Given the description of an element on the screen output the (x, y) to click on. 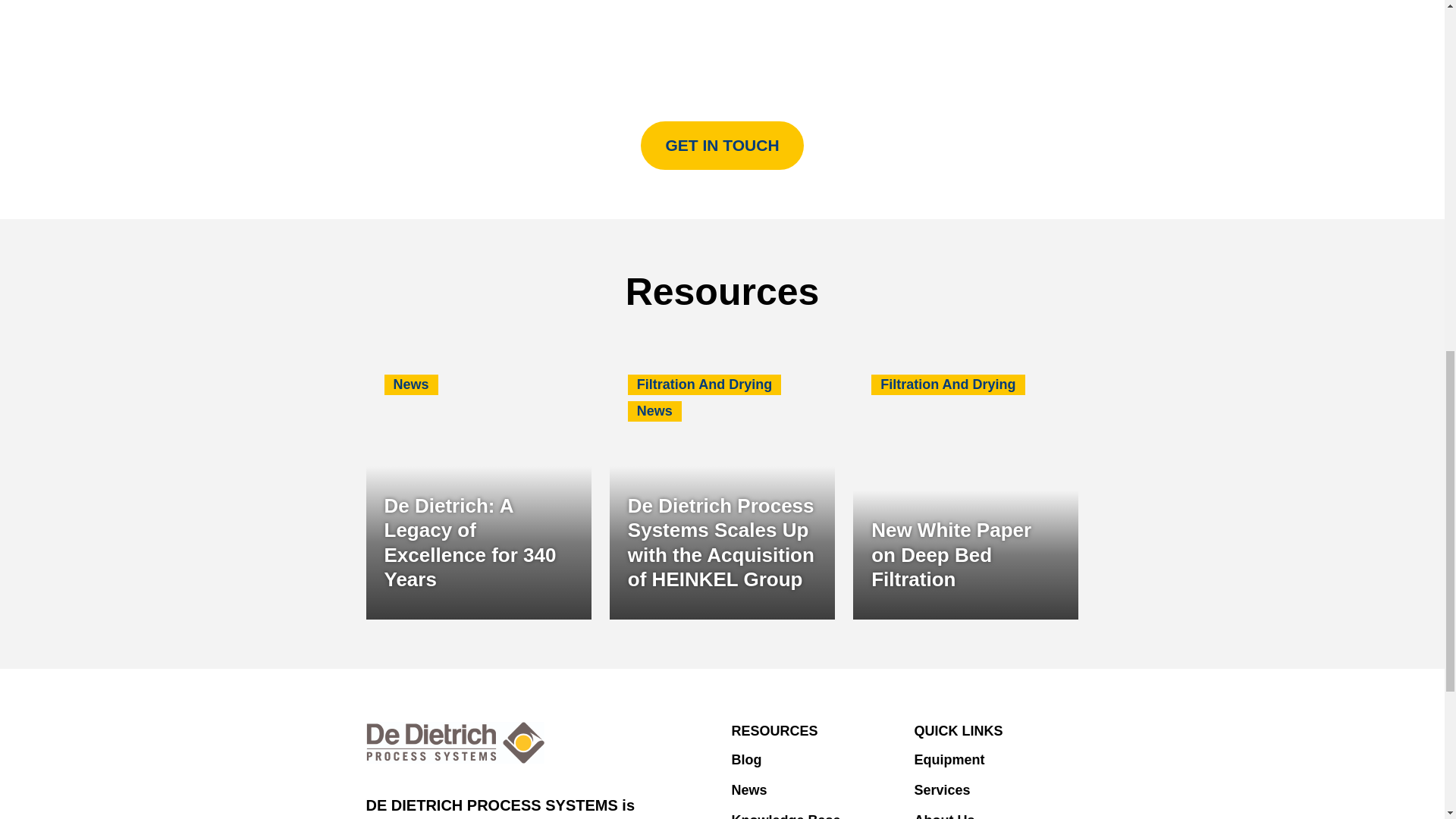
De Dietrich Process System (454, 742)
